Given the description of an element on the screen output the (x, y) to click on. 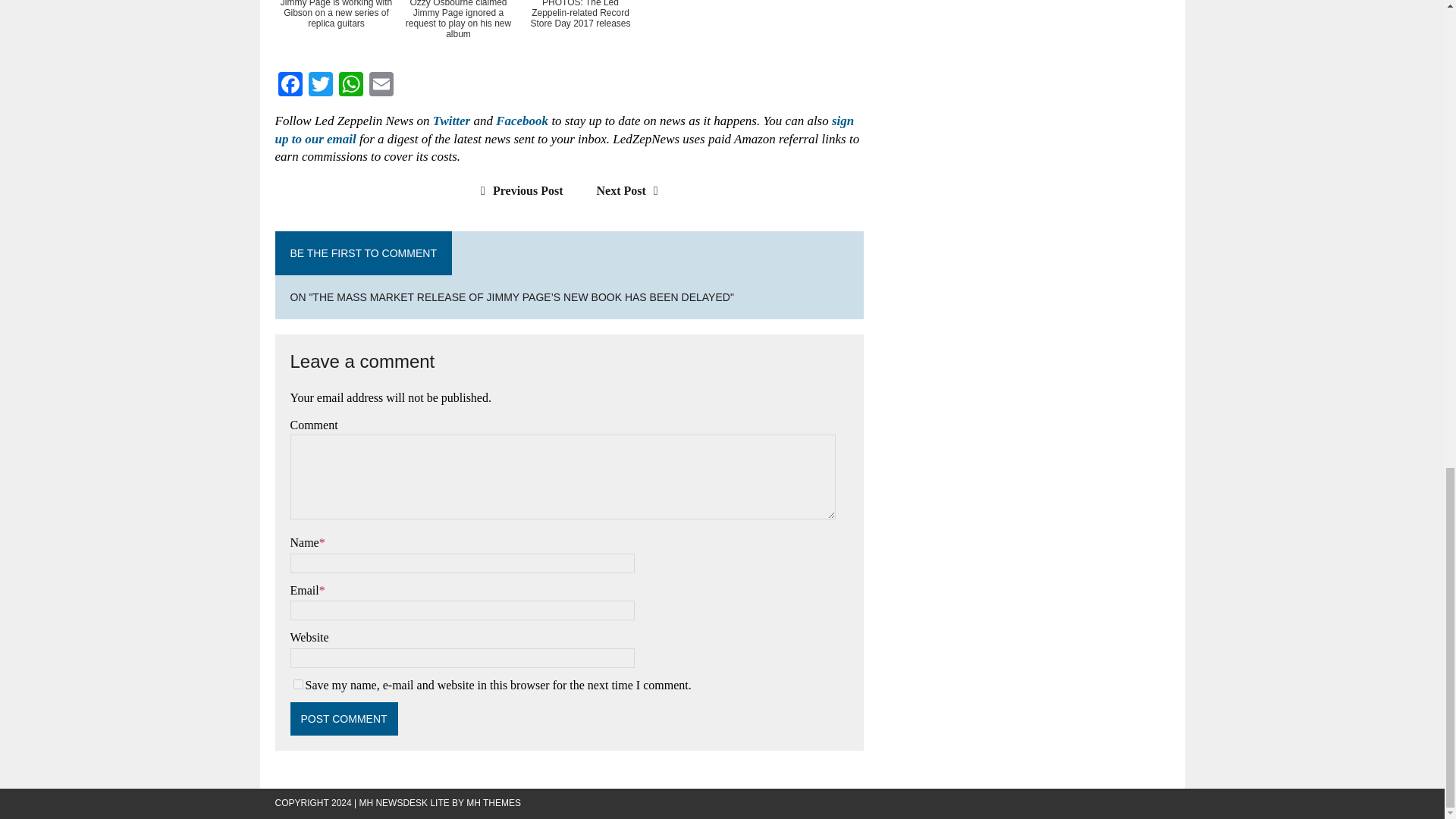
Post Comment (343, 718)
WhatsApp (349, 85)
Email (380, 85)
Facebook (289, 85)
Previous Post (517, 190)
yes (297, 684)
Twitter (451, 120)
Facebook (289, 85)
sign up to our email (564, 129)
